Given the description of an element on the screen output the (x, y) to click on. 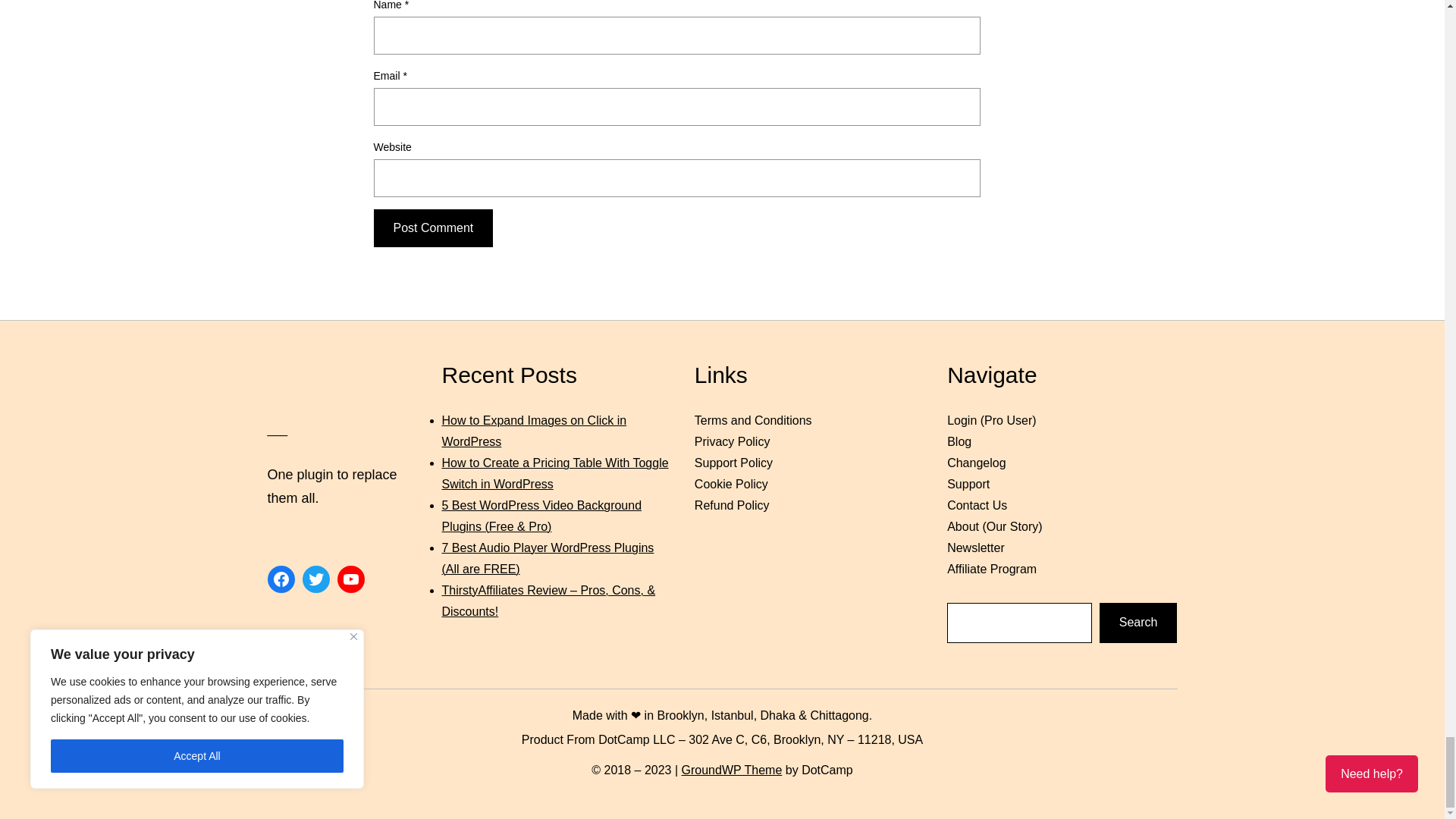
Post Comment (432, 228)
